Given the description of an element on the screen output the (x, y) to click on. 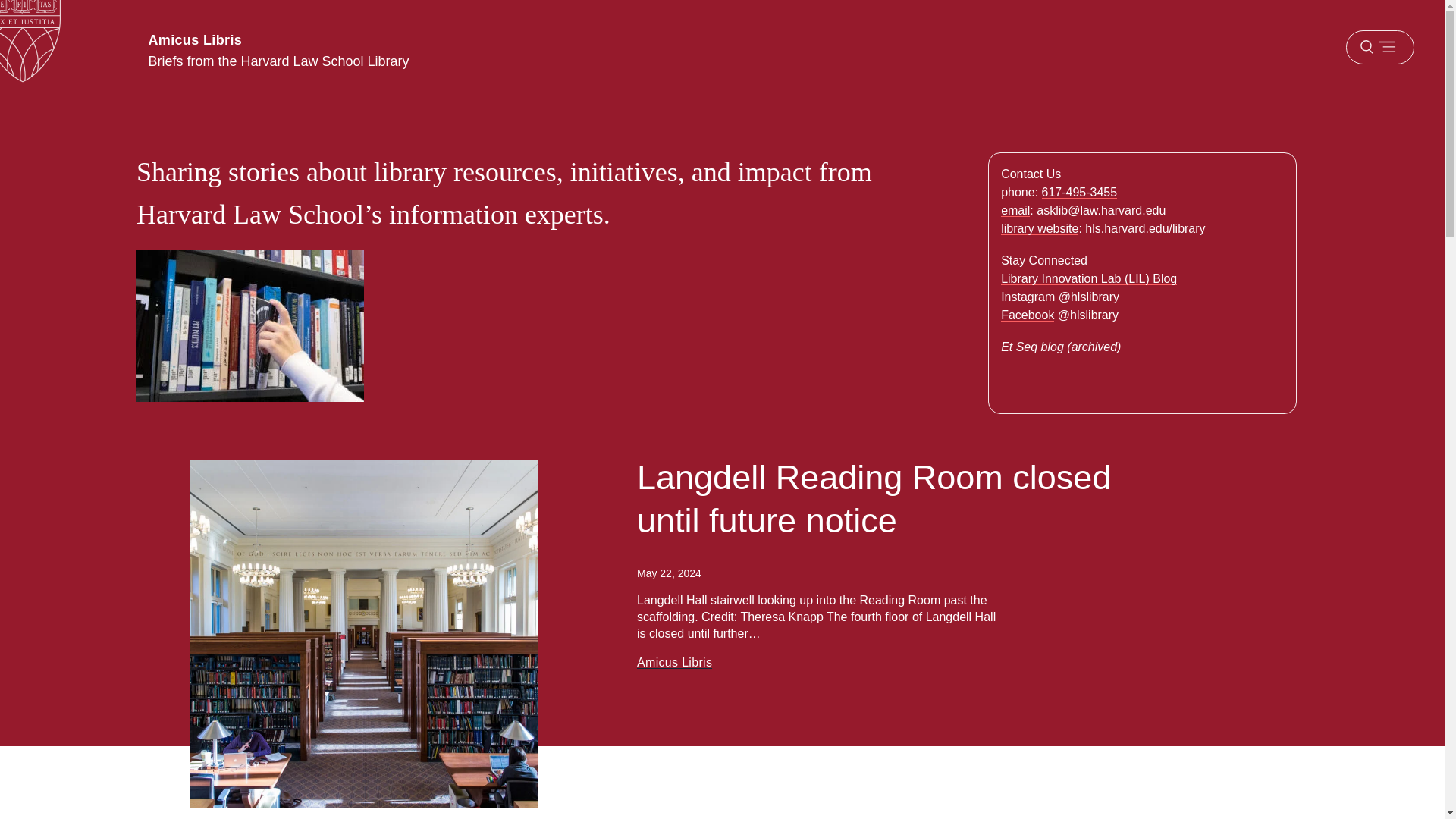
Open menu (1379, 47)
